Given the description of an element on the screen output the (x, y) to click on. 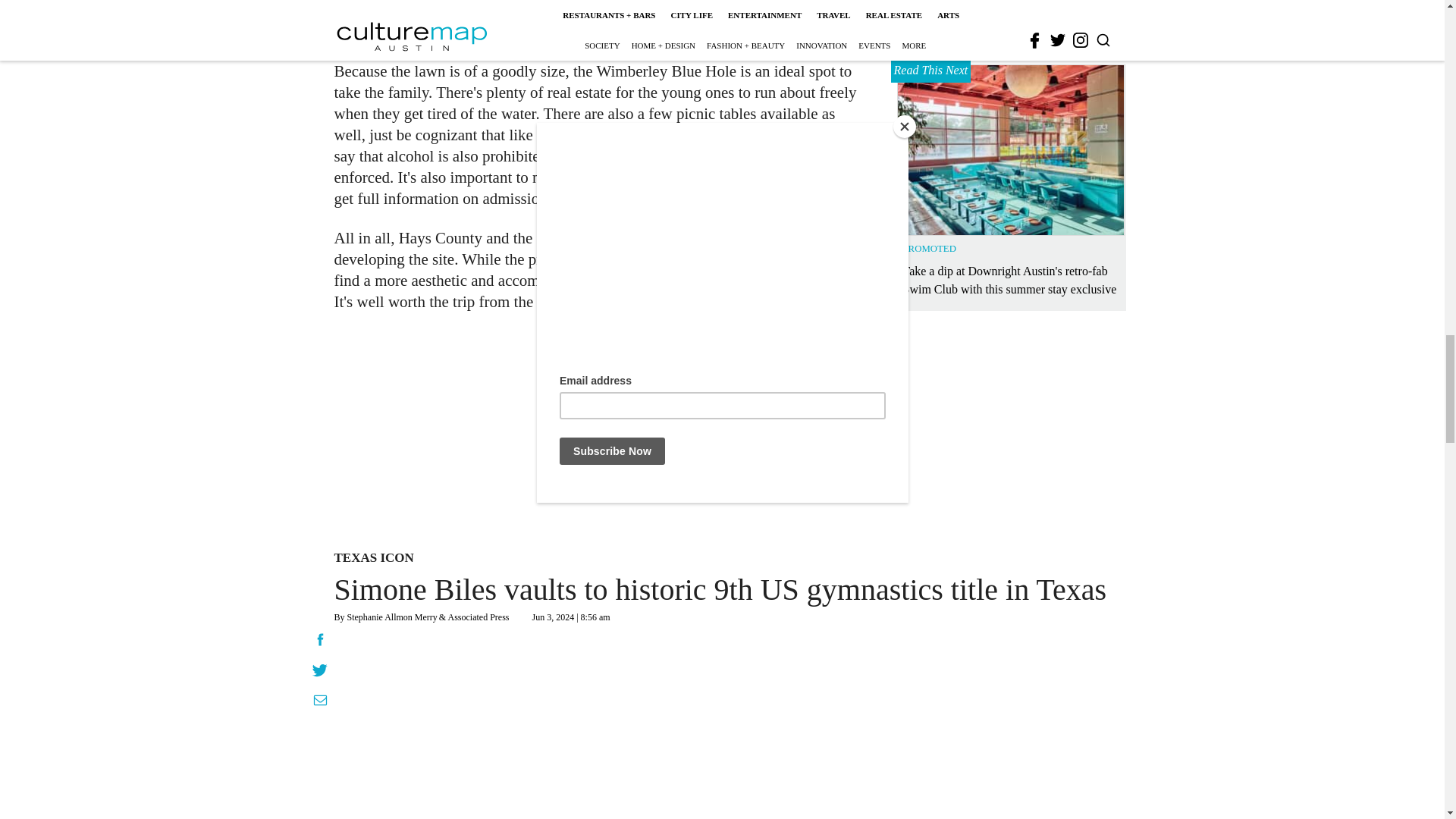
3rd party ad content (702, 433)
3rd party ad content (600, 21)
3rd party ad content (1011, 721)
